Given the description of an element on the screen output the (x, y) to click on. 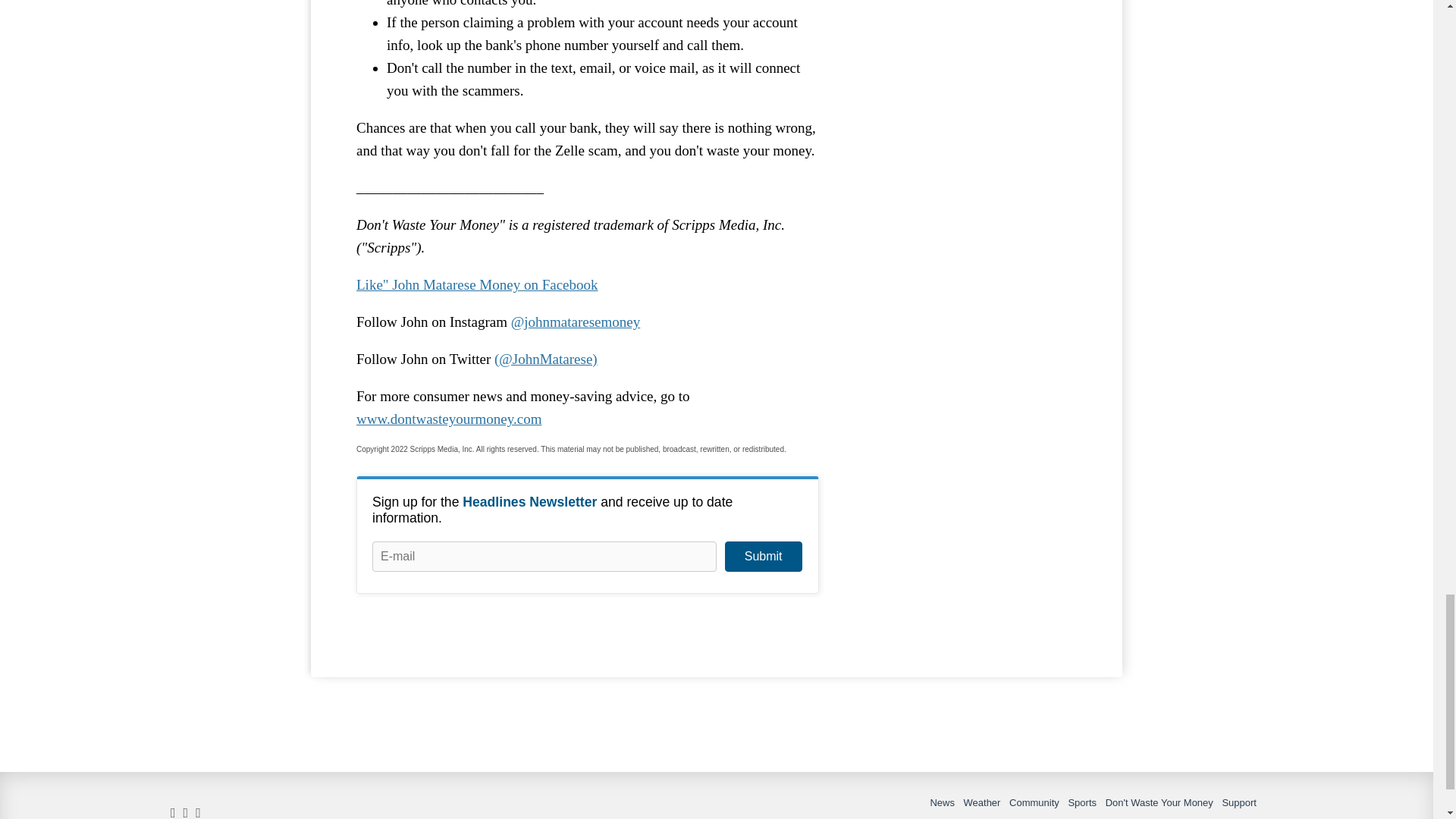
Submit (763, 556)
